Given the description of an element on the screen output the (x, y) to click on. 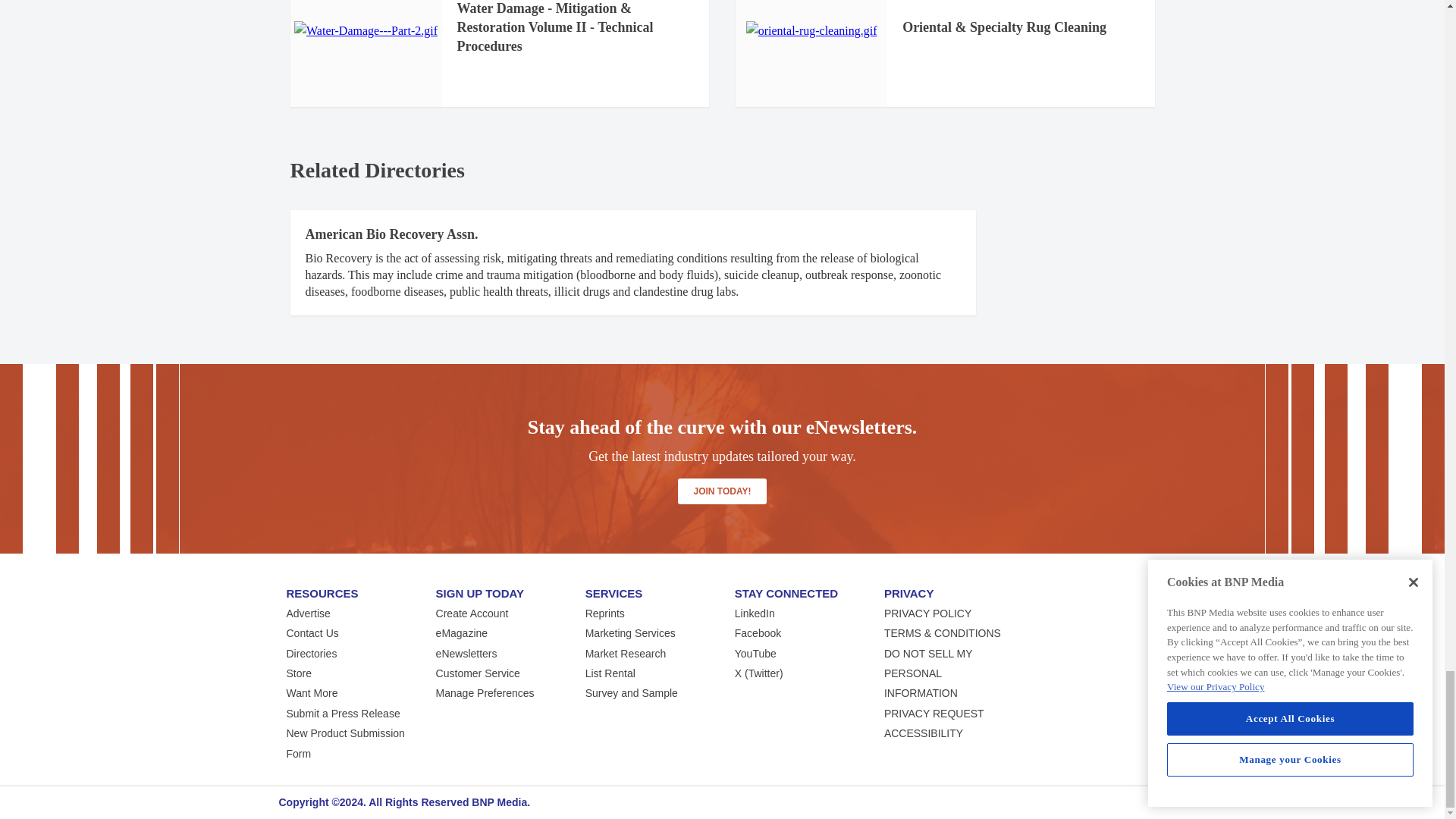
Water-Damage---Part-2.gif (366, 30)
oriental-rug-cleaning.gif (811, 30)
